Given the description of an element on the screen output the (x, y) to click on. 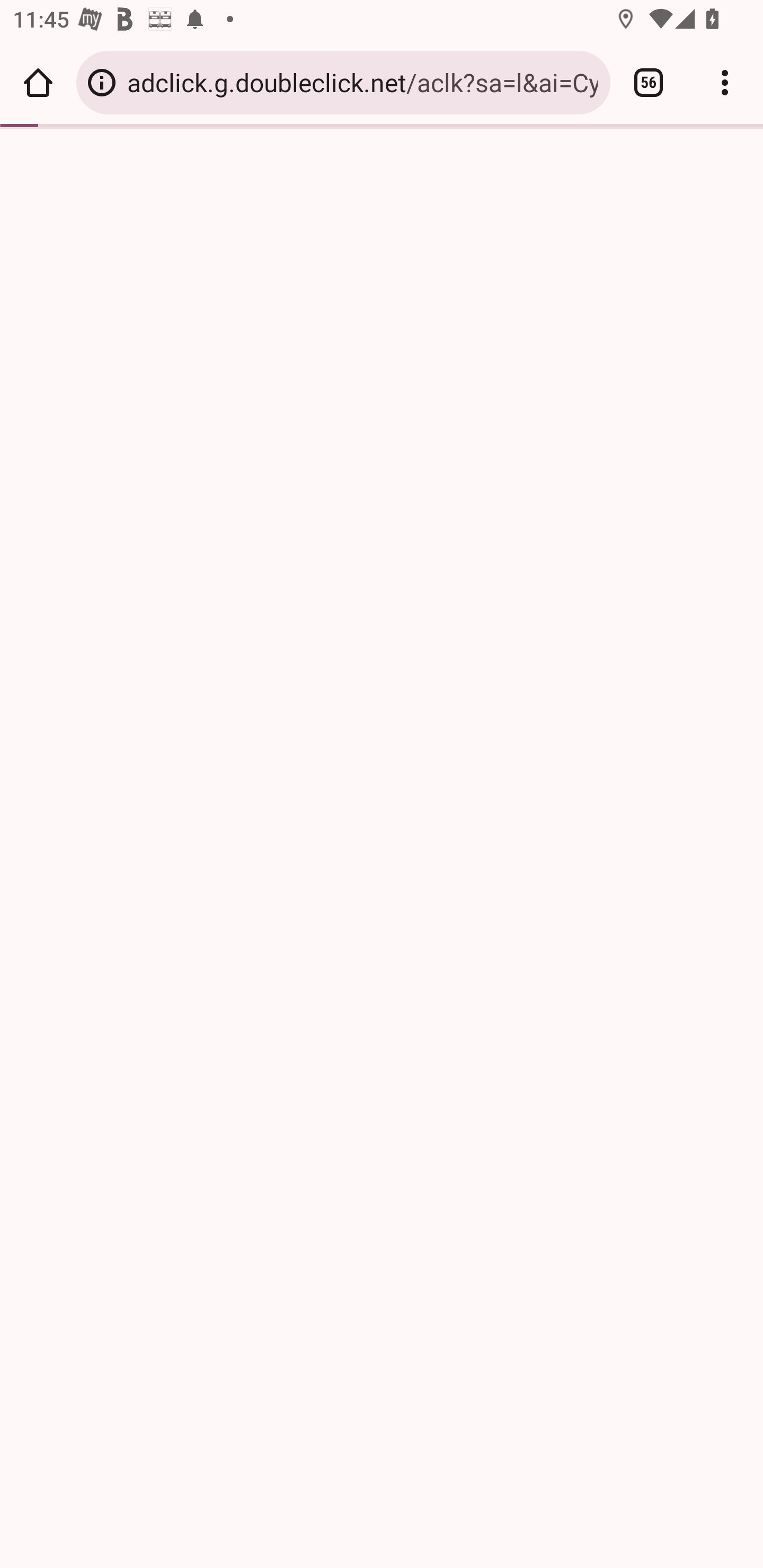
Open the home page (38, 82)
Your connection to this site is not secure (101, 82)
Switch or close tabs (648, 82)
Customize and control Google Chrome (724, 82)
